Given the description of an element on the screen output the (x, y) to click on. 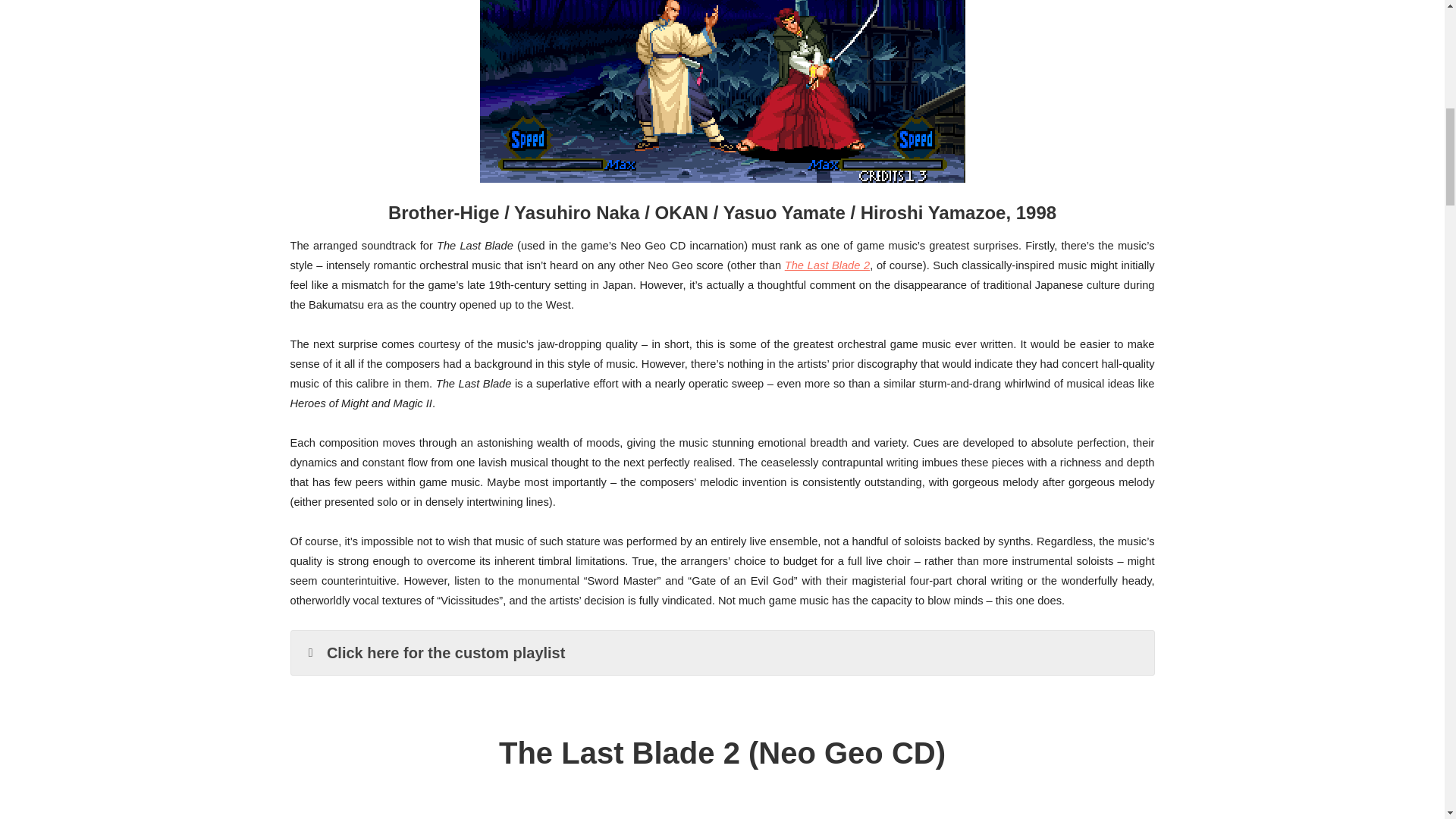
Click here for the custom playlist (722, 652)
The Last Blade 2 (826, 265)
